Given the description of an element on the screen output the (x, y) to click on. 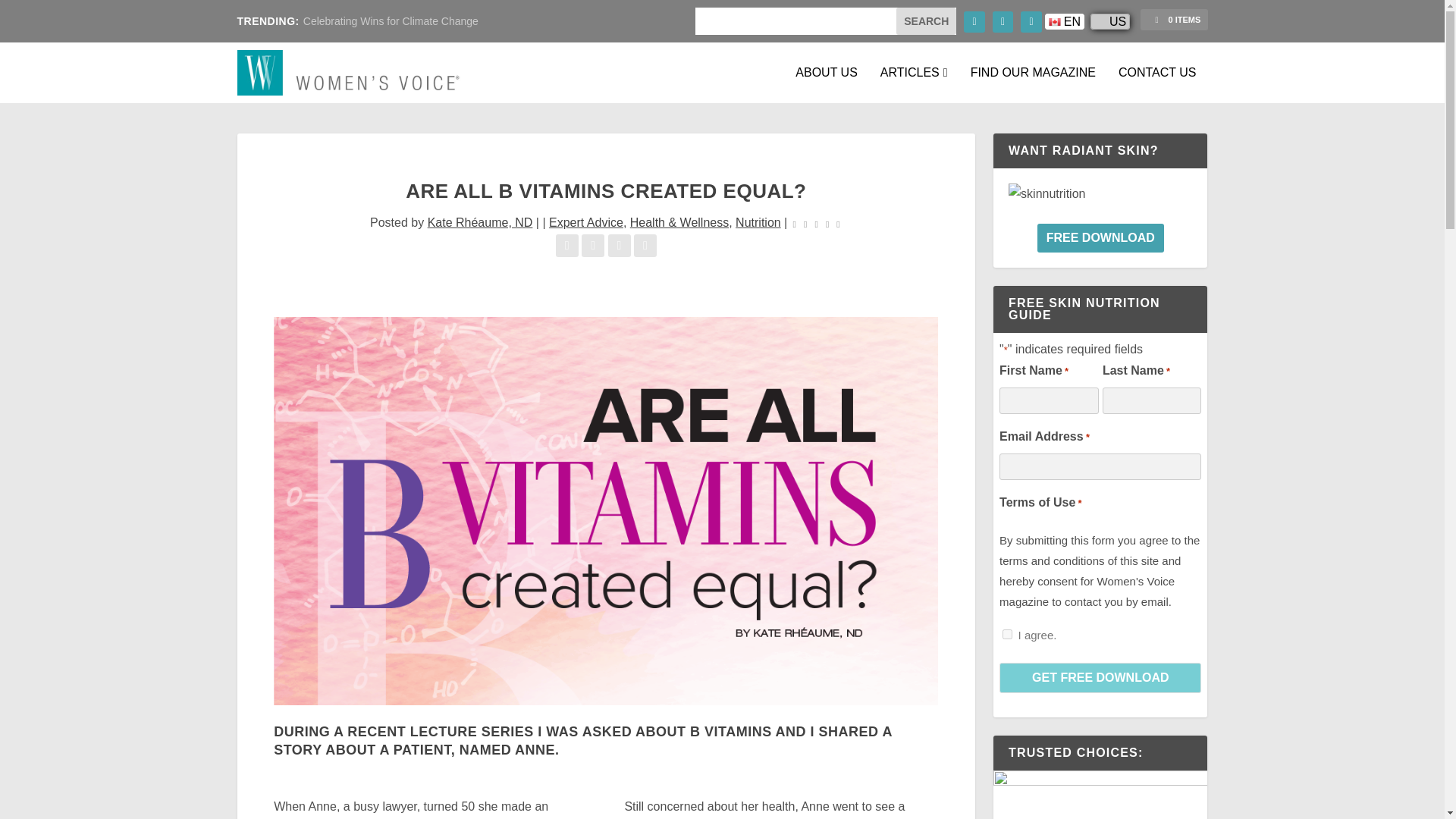
Share "Are All B Vitamins Created Equal?" via Email (620, 245)
Share "Are All B Vitamins Created Equal?" via Print (644, 245)
Get Free Download (1099, 677)
Rating: 0.00 (816, 223)
Share "Are All B Vitamins Created Equal?" via Facebook (568, 245)
0 Items in Cart (1173, 19)
Search (926, 21)
US (1109, 21)
I agree to the terms of use. (1007, 634)
Expert Advice (585, 222)
